Given the description of an element on the screen output the (x, y) to click on. 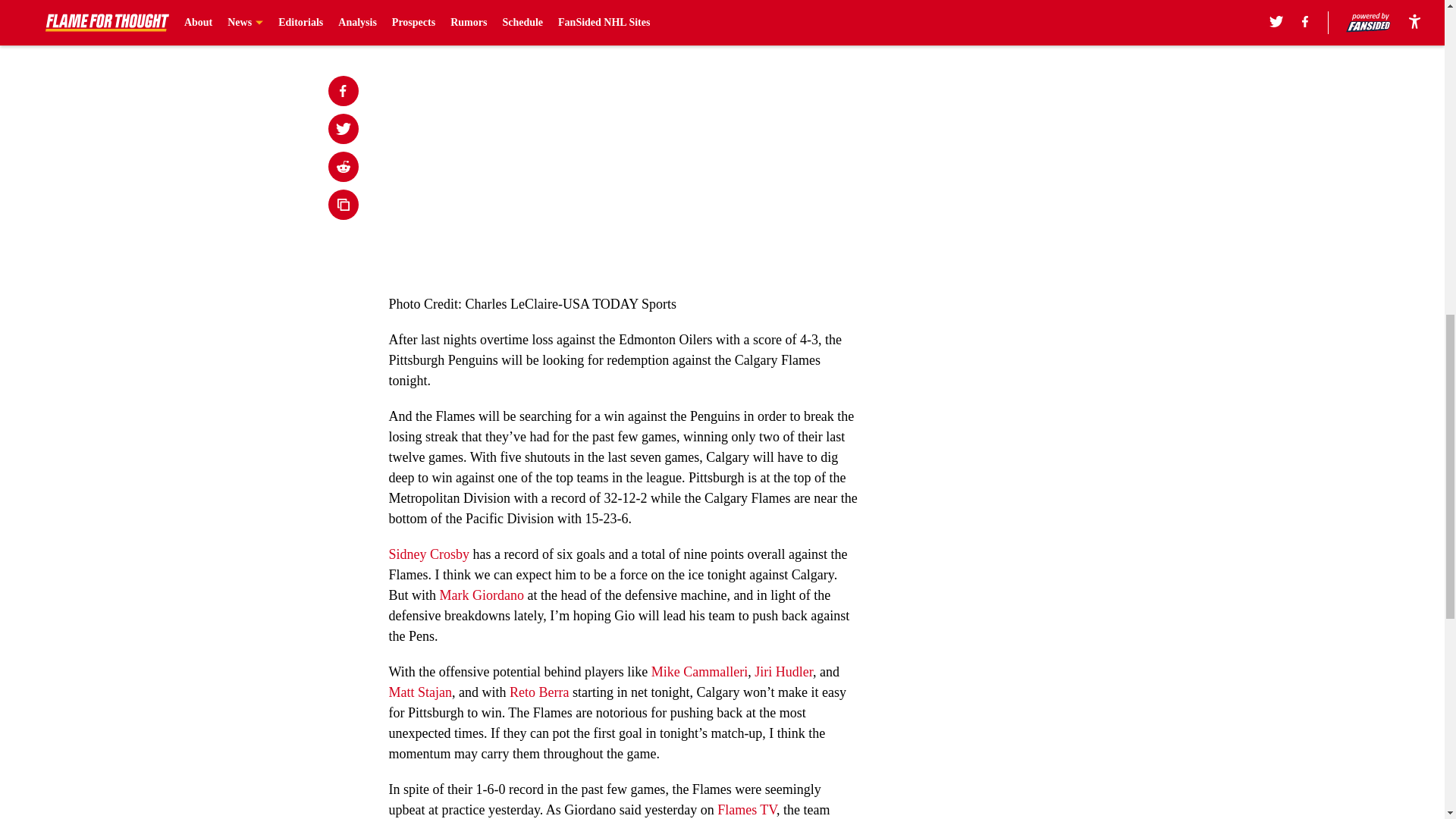
Reto Berra (539, 692)
Jiri Hudler (783, 671)
Sidney Crosby (428, 554)
Mike Cammalleri (699, 671)
Flames TV (746, 809)
Mark Giordano (481, 595)
Matt Stajan (419, 692)
